Given the description of an element on the screen output the (x, y) to click on. 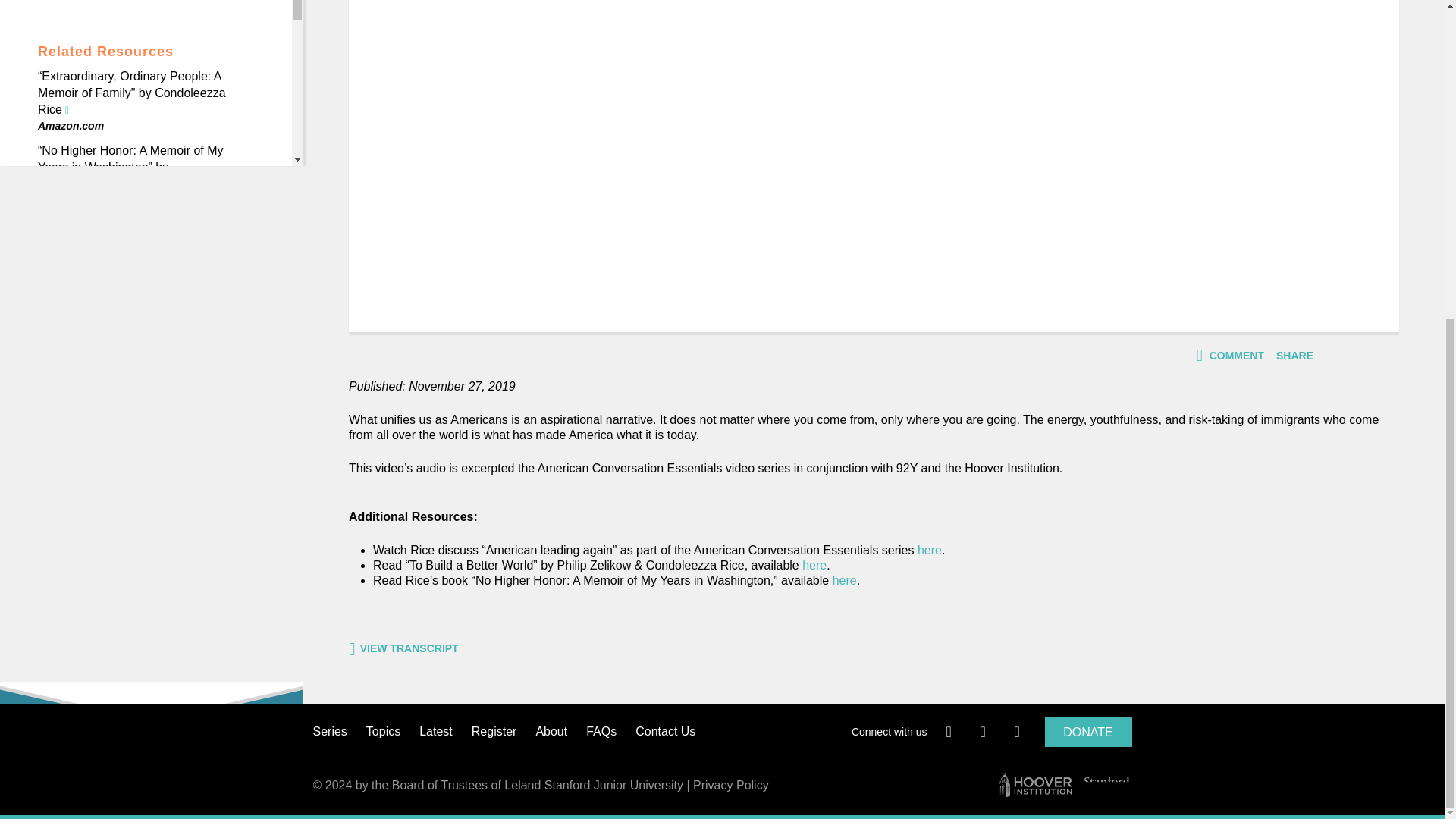
Amazon.com (70, 200)
here (844, 580)
Follow us on Instagram (1021, 732)
Amazon.com (70, 256)
here (814, 564)
here (929, 549)
DONATE (1088, 731)
Follow us on Facebook (953, 732)
Amazon.com (70, 125)
